Given the description of an element on the screen output the (x, y) to click on. 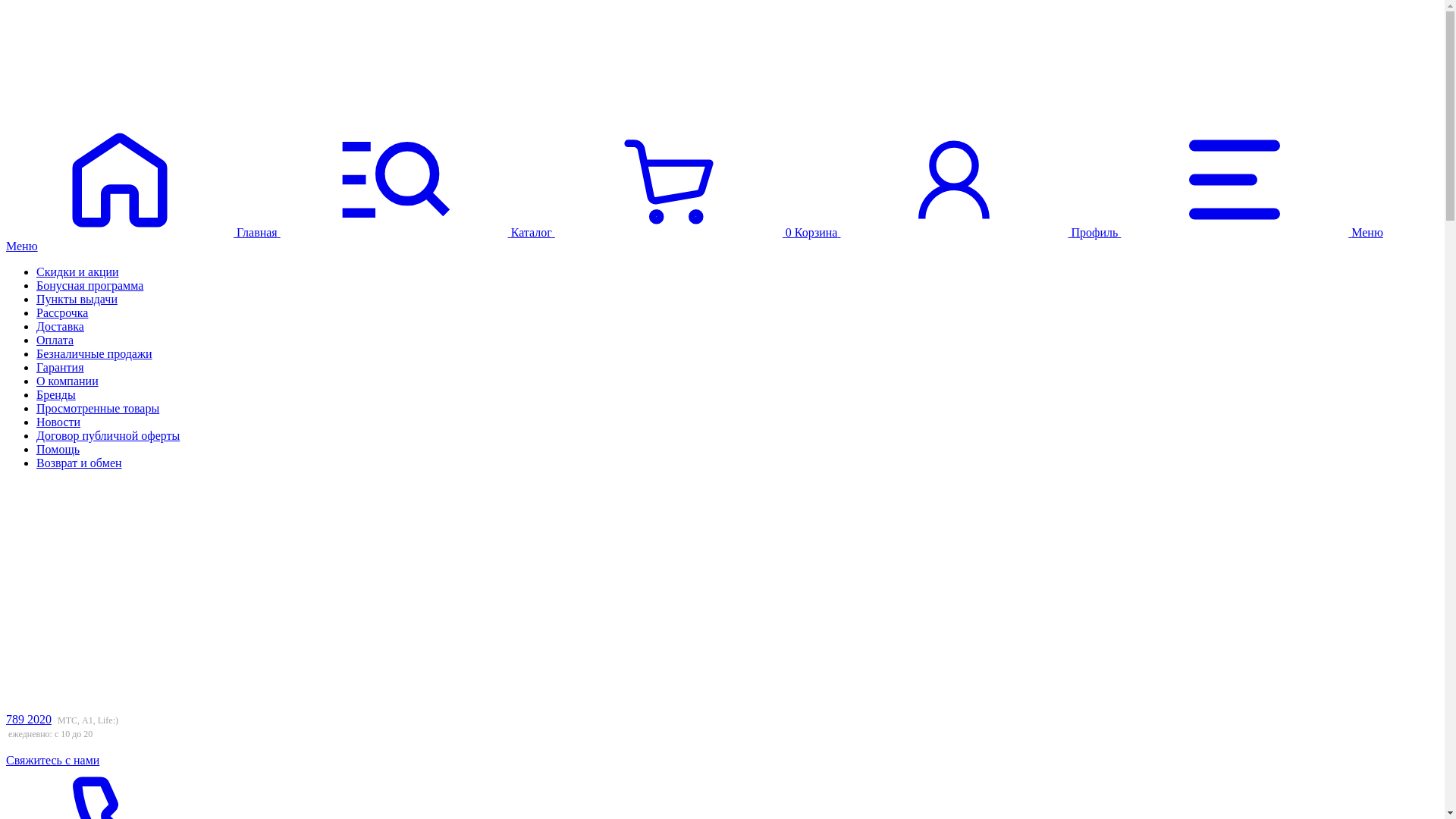
789 2020 Element type: text (28, 718)
